Given the description of an element on the screen output the (x, y) to click on. 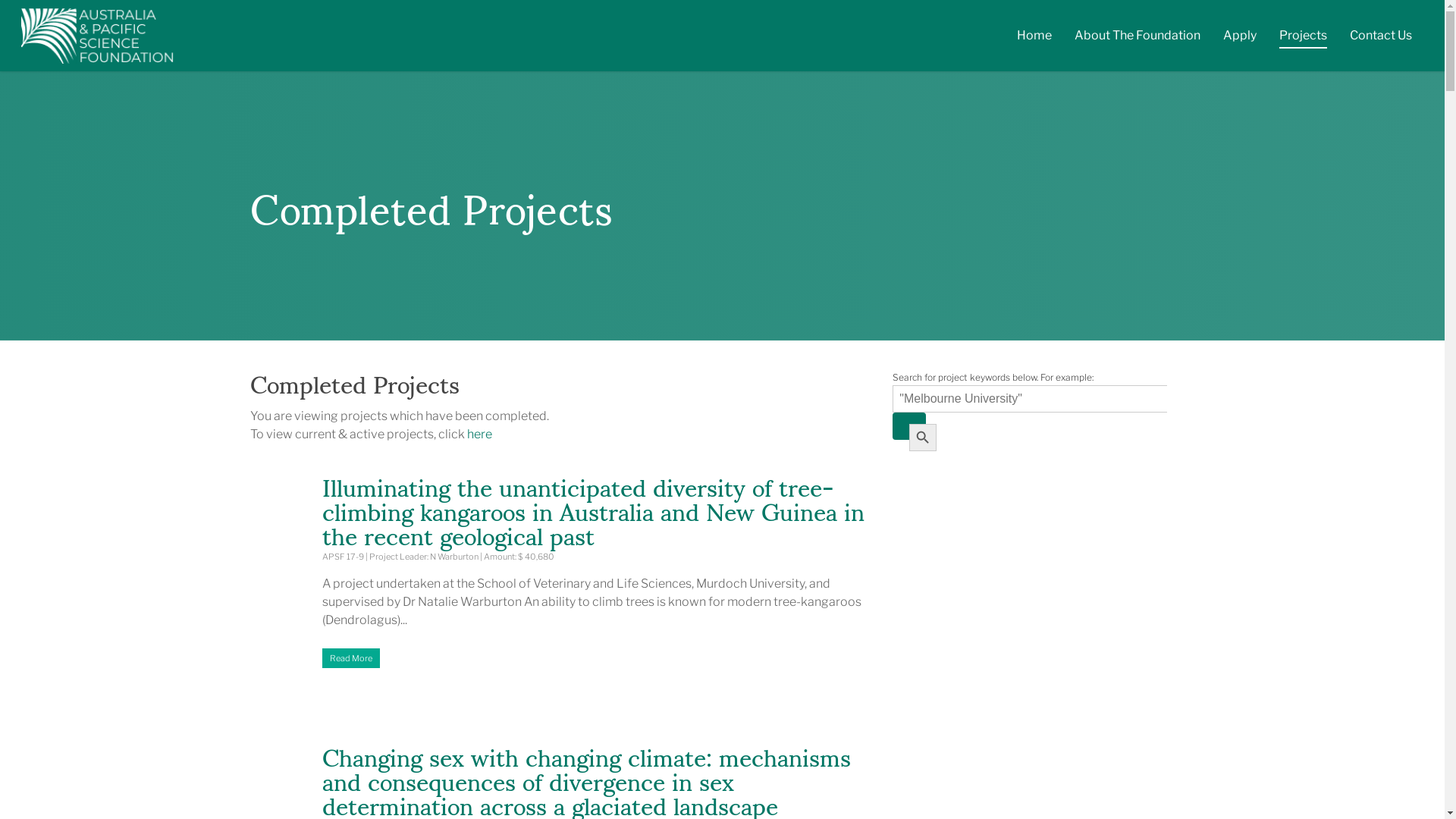
Apply Element type: text (1239, 39)
About The Foundation Element type: text (1137, 39)
Home Element type: text (1033, 39)
Read More Element type: text (597, 657)
here Element type: text (479, 433)
Projects Element type: text (1303, 39)
Contact Us Element type: text (1380, 39)
Search Button Element type: text (908, 425)
